Given the description of an element on the screen output the (x, y) to click on. 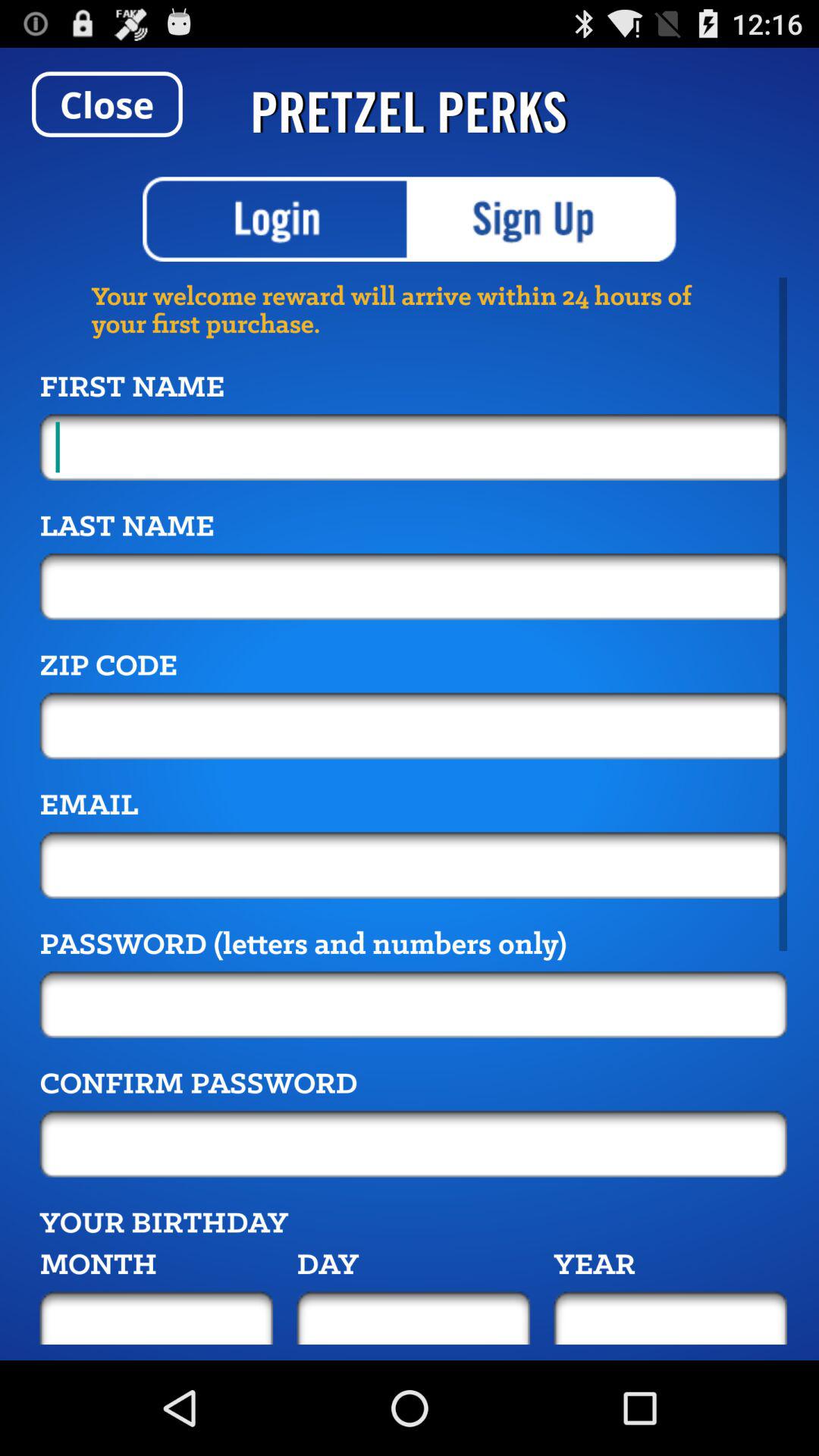
add birth year (670, 1317)
